Given the description of an element on the screen output the (x, y) to click on. 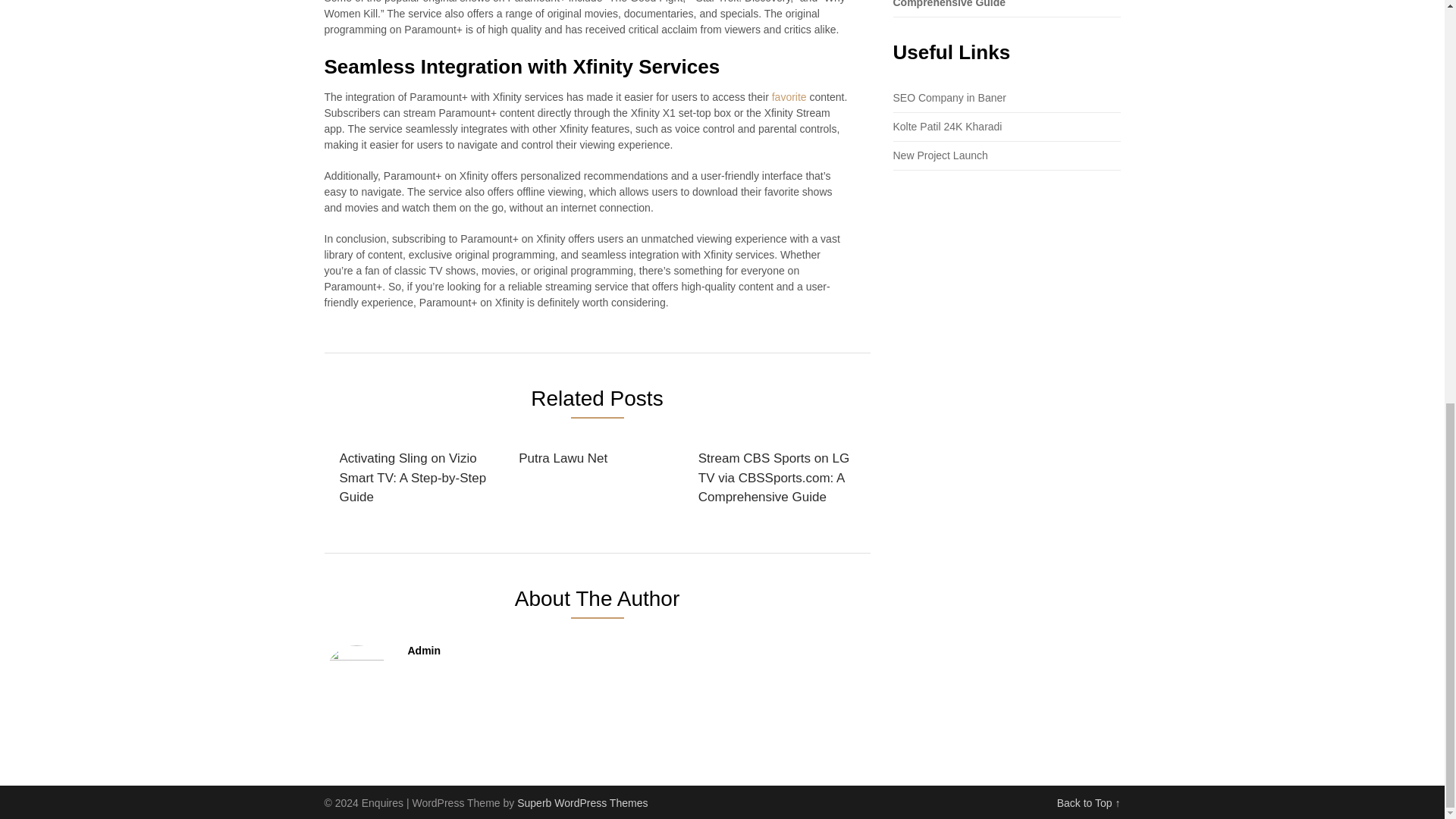
Activating Sling on Vizio Smart TV: A Step-by-Step Guide (415, 478)
New Project Launch (940, 155)
Putra Lawu Net (562, 458)
favorite (788, 96)
Activating Sling on Vizio Smart TV: A Step-by-Step Guide (415, 478)
Upcoming Residential Projects in Pune: A Comprehensive Guide (998, 4)
Superb WordPress Themes (581, 802)
SEO Company in Baner (949, 97)
